Given the description of an element on the screen output the (x, y) to click on. 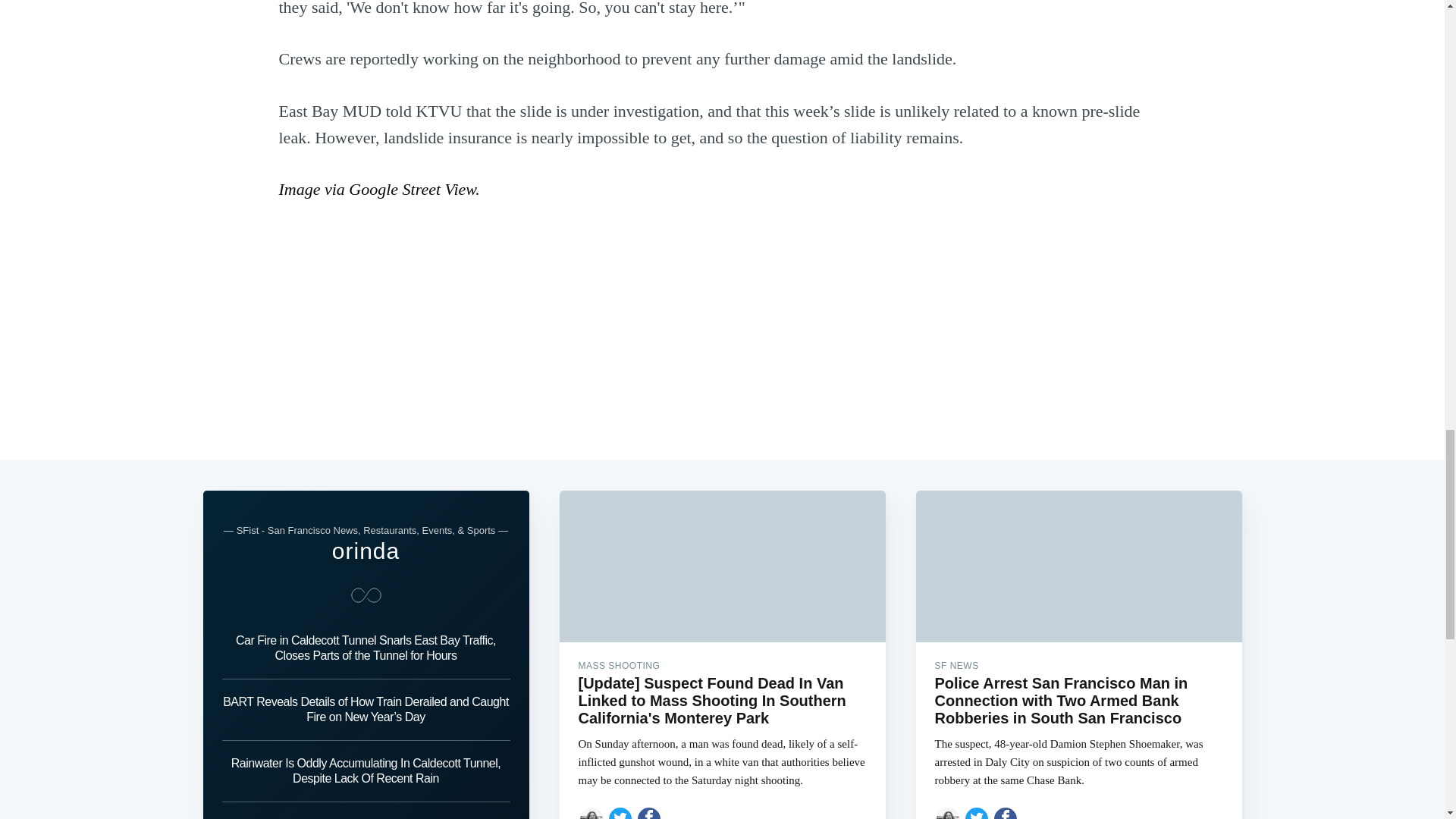
Share on Facebook (649, 812)
Share on Twitter (976, 812)
orinda (364, 550)
Share on Twitter (620, 812)
Share on Facebook (1004, 812)
